Given the description of an element on the screen output the (x, y) to click on. 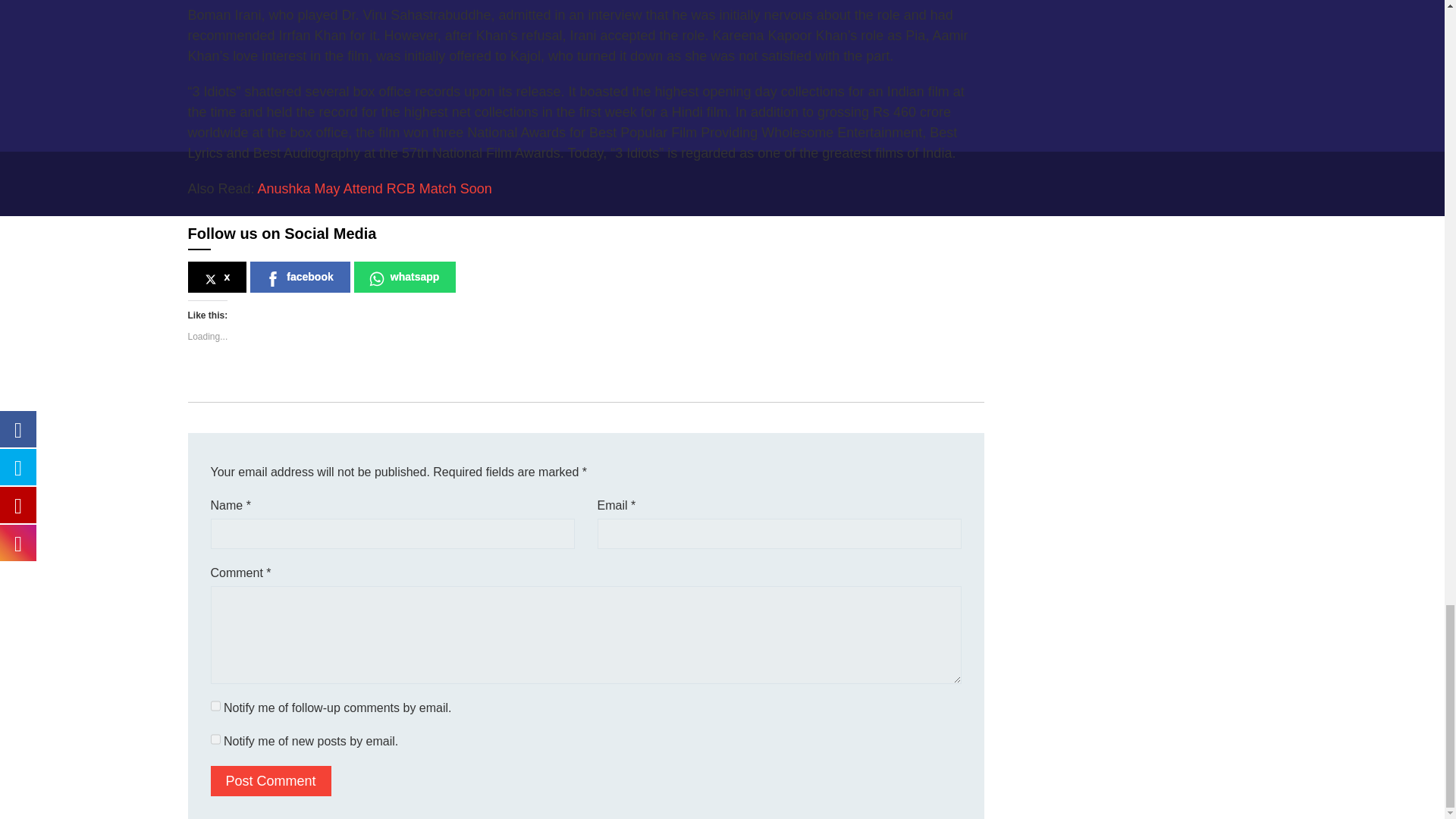
subscribe (216, 739)
subscribe (216, 705)
Post Comment (271, 780)
